Given the description of an element on the screen output the (x, y) to click on. 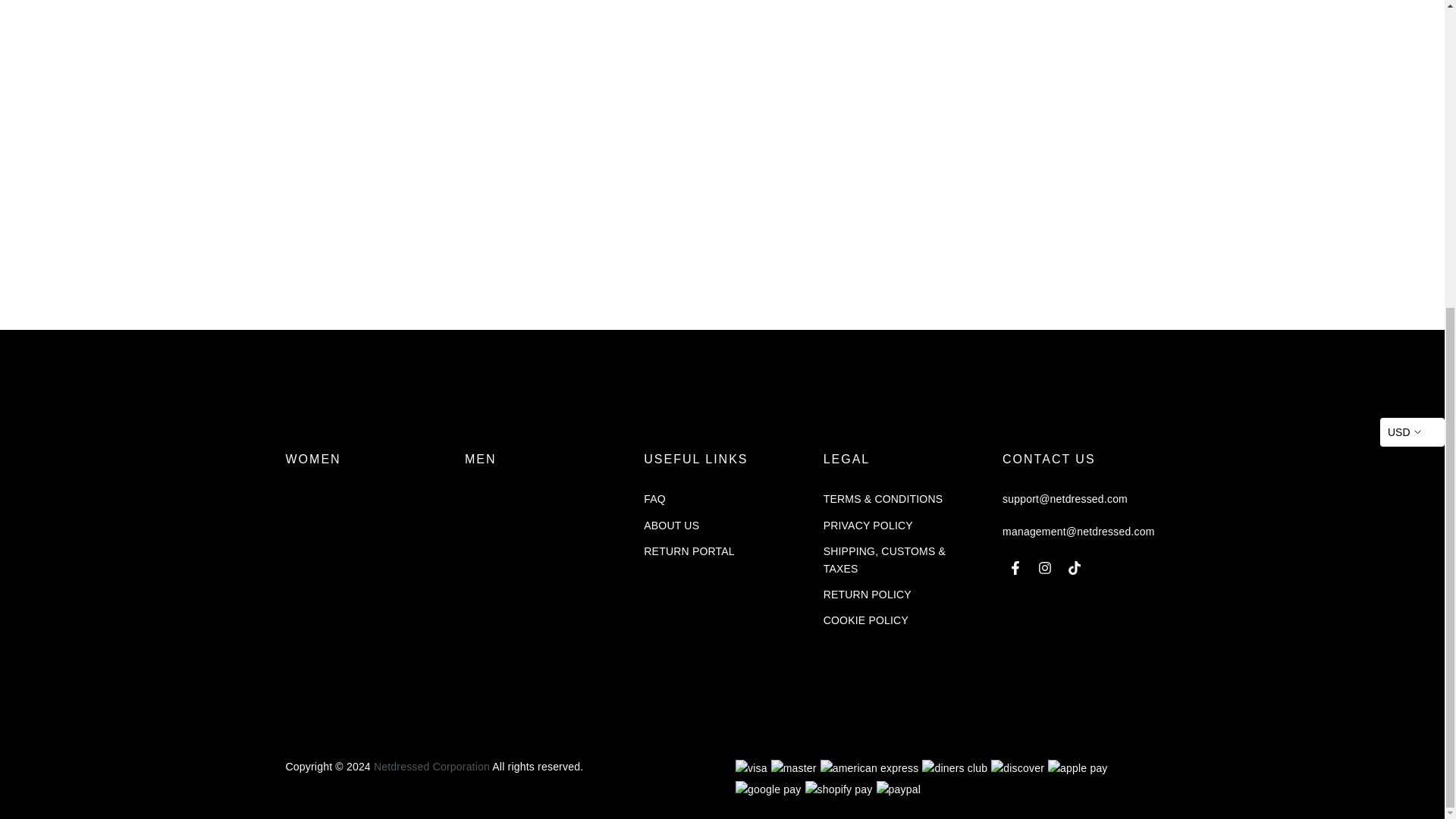
ABOUT US (670, 525)
RETURN POLICY (867, 594)
FAQ (654, 499)
Follow on Facebook (1015, 567)
PRIVACY POLICY (868, 525)
Follow on Instagram (1045, 567)
Follow on Tiktok (1074, 567)
RETURN PORTAL (689, 551)
COOKIE POLICY (866, 620)
